Given the description of an element on the screen output the (x, y) to click on. 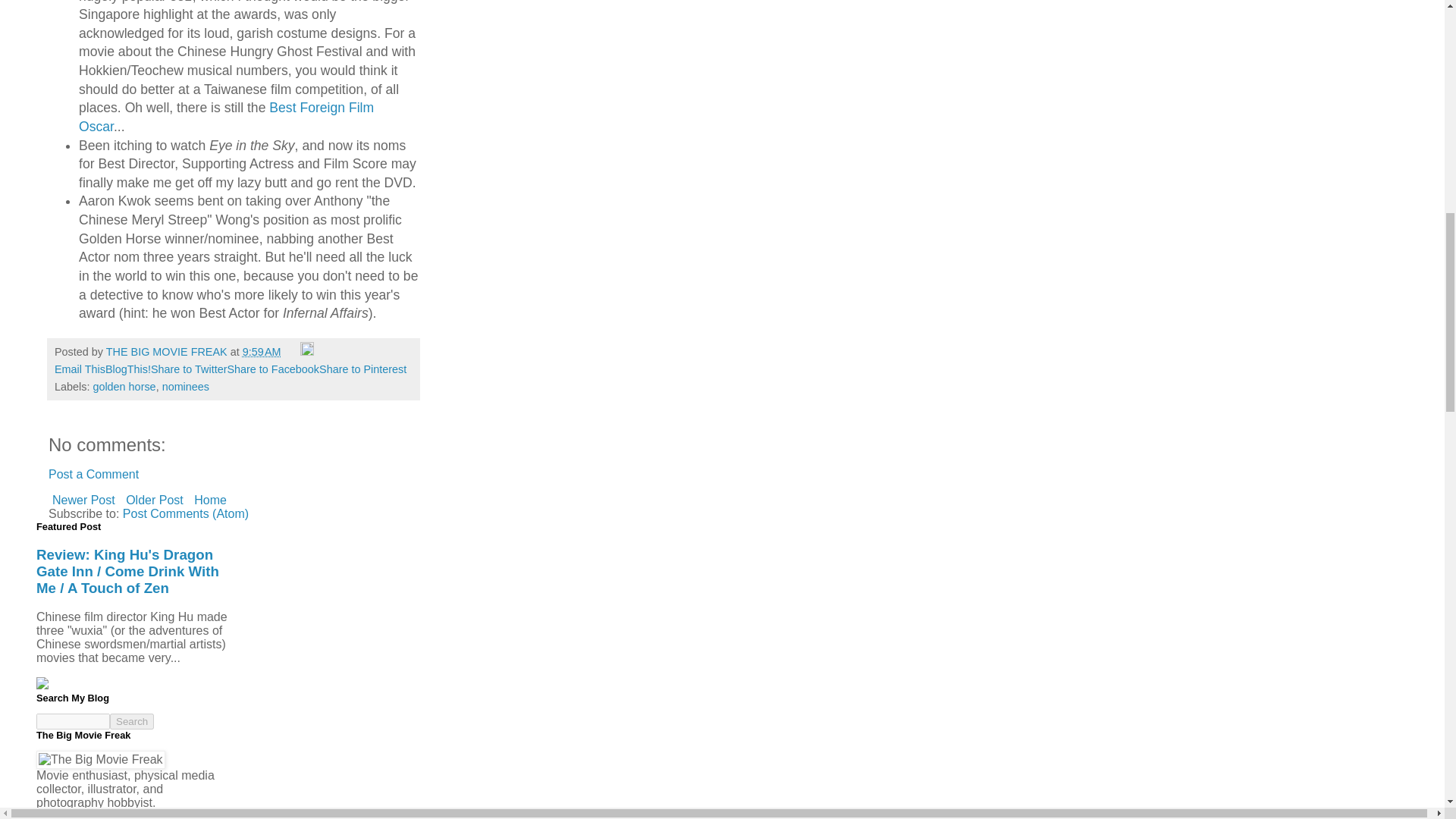
Share to Pinterest (362, 369)
BlogThis! (127, 369)
Newer Post (83, 499)
Search (132, 721)
BlogThis! (127, 369)
THE BIG MOVIE FREAK (168, 351)
golden horse (124, 386)
Email This (79, 369)
Best Foreign Film Oscar (226, 116)
Edit Post (306, 351)
Post a Comment (93, 473)
author profile (168, 351)
Share to Facebook (272, 369)
Home (210, 499)
Email This (79, 369)
